Given the description of an element on the screen output the (x, y) to click on. 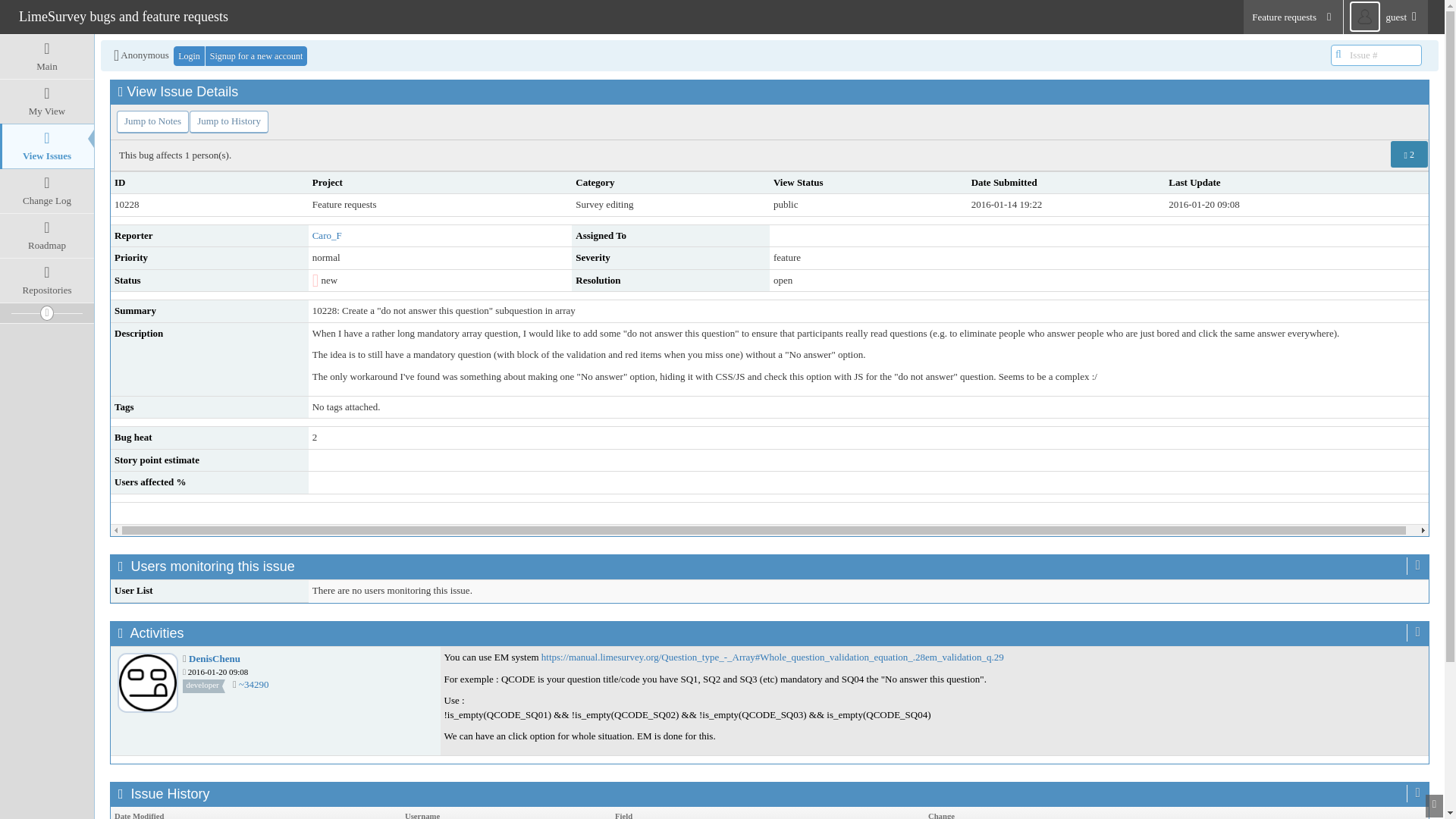
Jump to Notes (152, 121)
DenisChenu (214, 658)
LimeSurvey bugs and feature requests (123, 15)
Jump to History (228, 121)
View Issues (47, 146)
Change Log (47, 190)
My View (47, 101)
Direct link to note (253, 684)
Roadmap (47, 235)
guest (1385, 17)
